Given the description of an element on the screen output the (x, y) to click on. 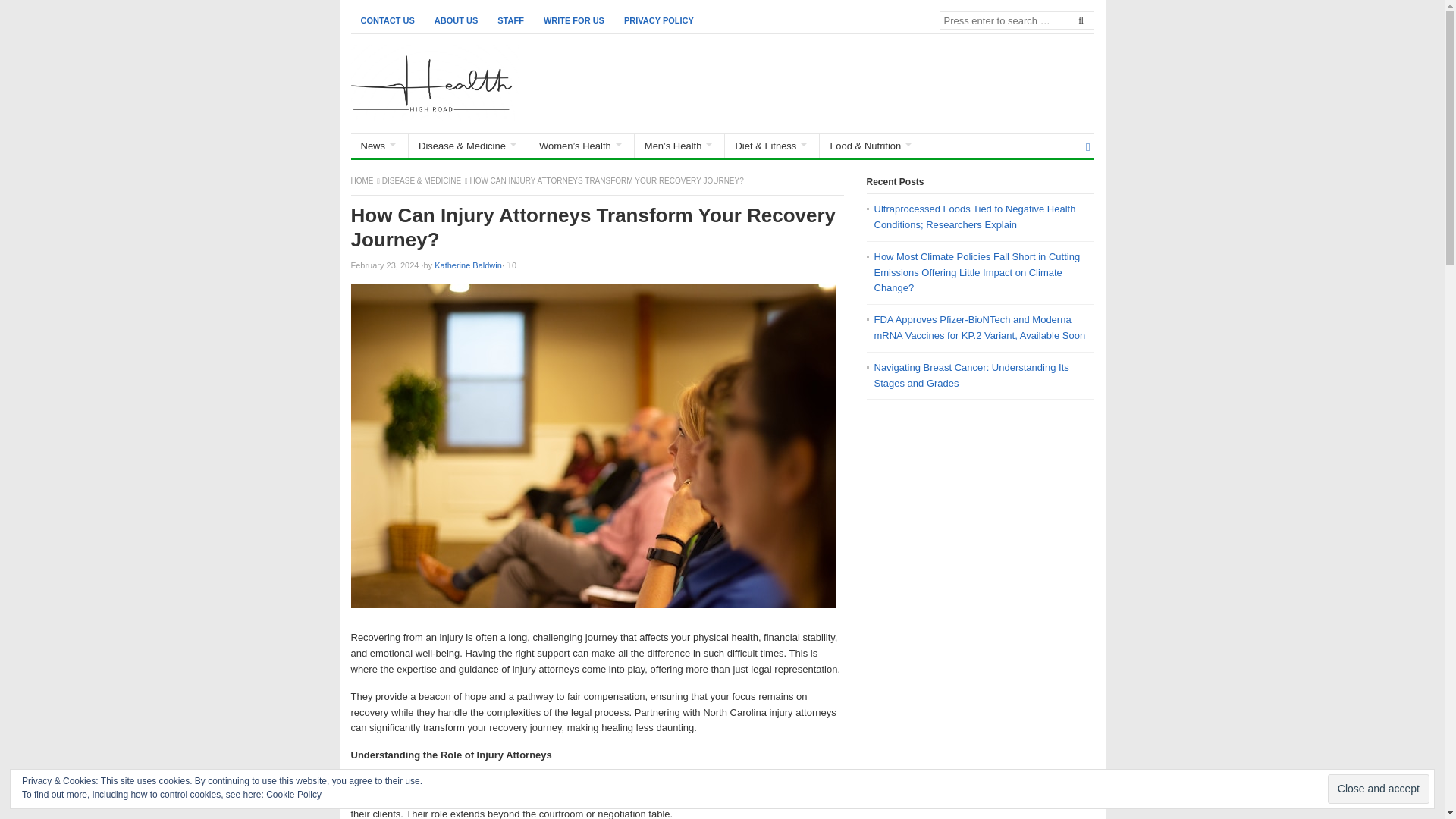
PRIVACY POLICY (658, 20)
Health Highroad (362, 180)
WRITE FOR US (574, 20)
CONTACT US (386, 20)
ABOUT US (456, 20)
Close and accept (1378, 788)
Search for: (1016, 20)
STAFF (510, 20)
